Given the description of an element on the screen output the (x, y) to click on. 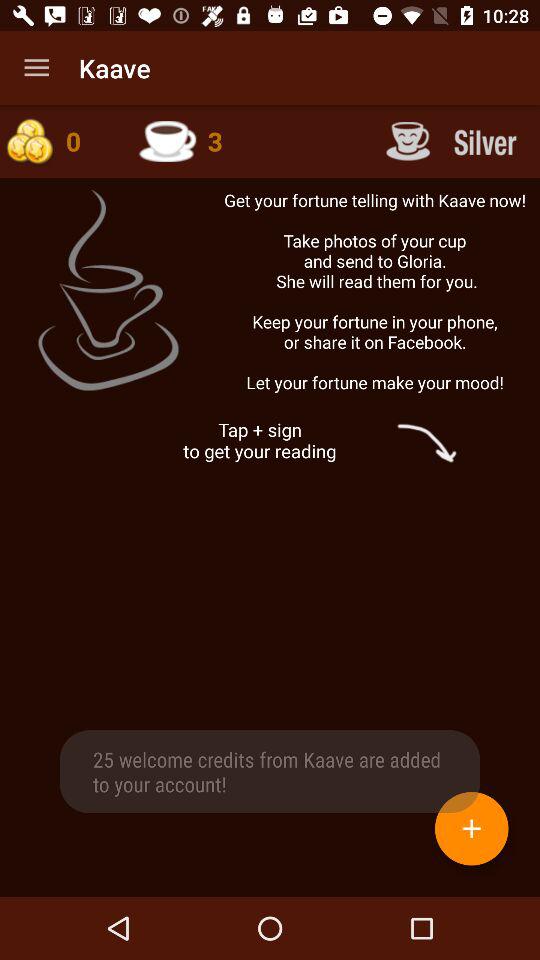
add something (471, 828)
